Given the description of an element on the screen output the (x, y) to click on. 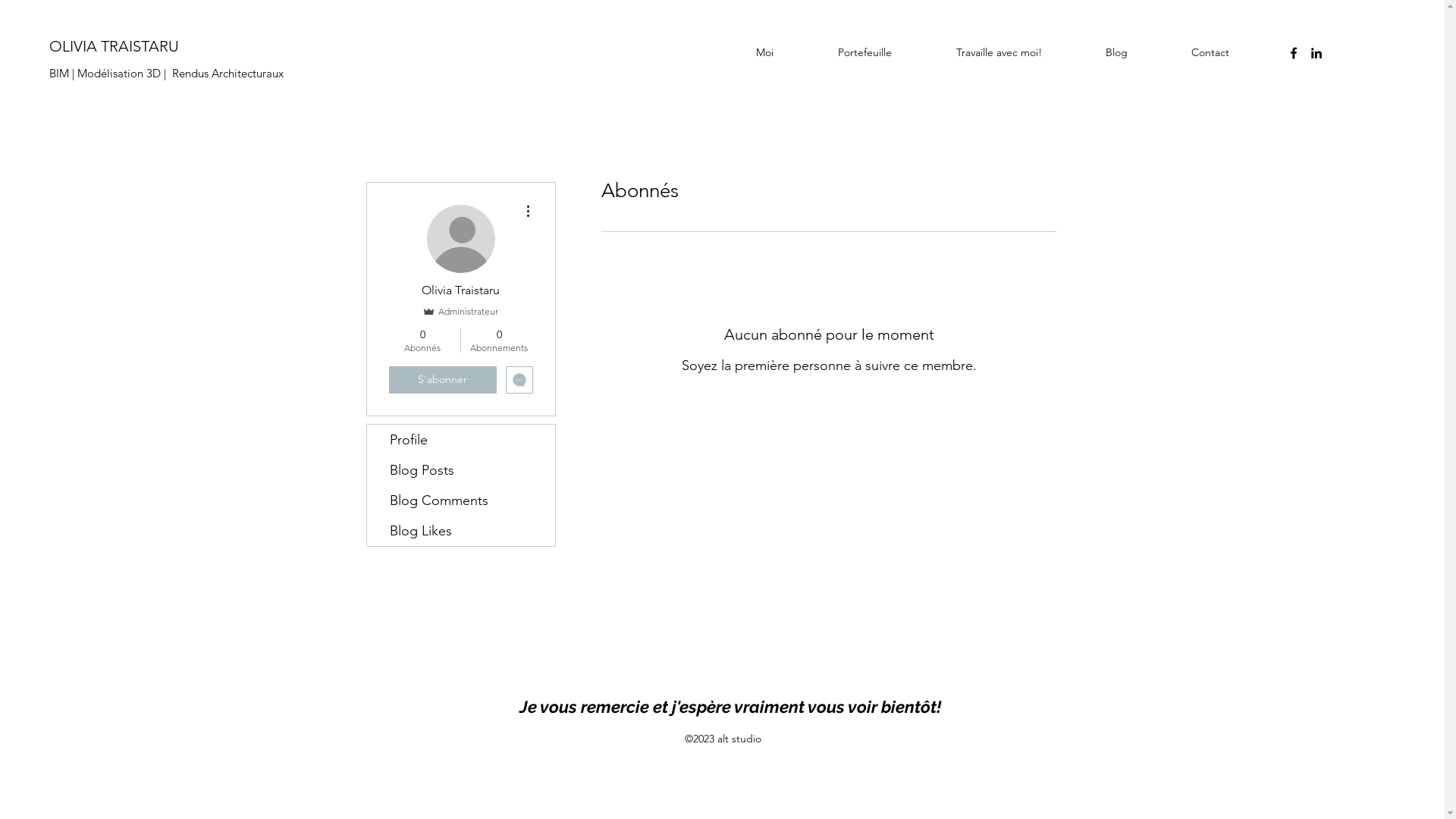
Blog Posts Element type: text (461, 470)
Blog Likes Element type: text (461, 530)
Portefeuille Element type: text (889, 51)
0
Abonnements Element type: text (499, 340)
Profile Element type: text (461, 439)
S'abonner Element type: text (441, 379)
Blog Element type: text (1140, 51)
Moi Element type: text (789, 51)
OLIVIA TRAISTARU Element type: text (113, 46)
Travaille avec moi! Element type: text (1023, 51)
Blog Comments Element type: text (461, 500)
Followers Element type: hover (827, 414)
Contact Element type: text (1234, 51)
